Given the description of an element on the screen output the (x, y) to click on. 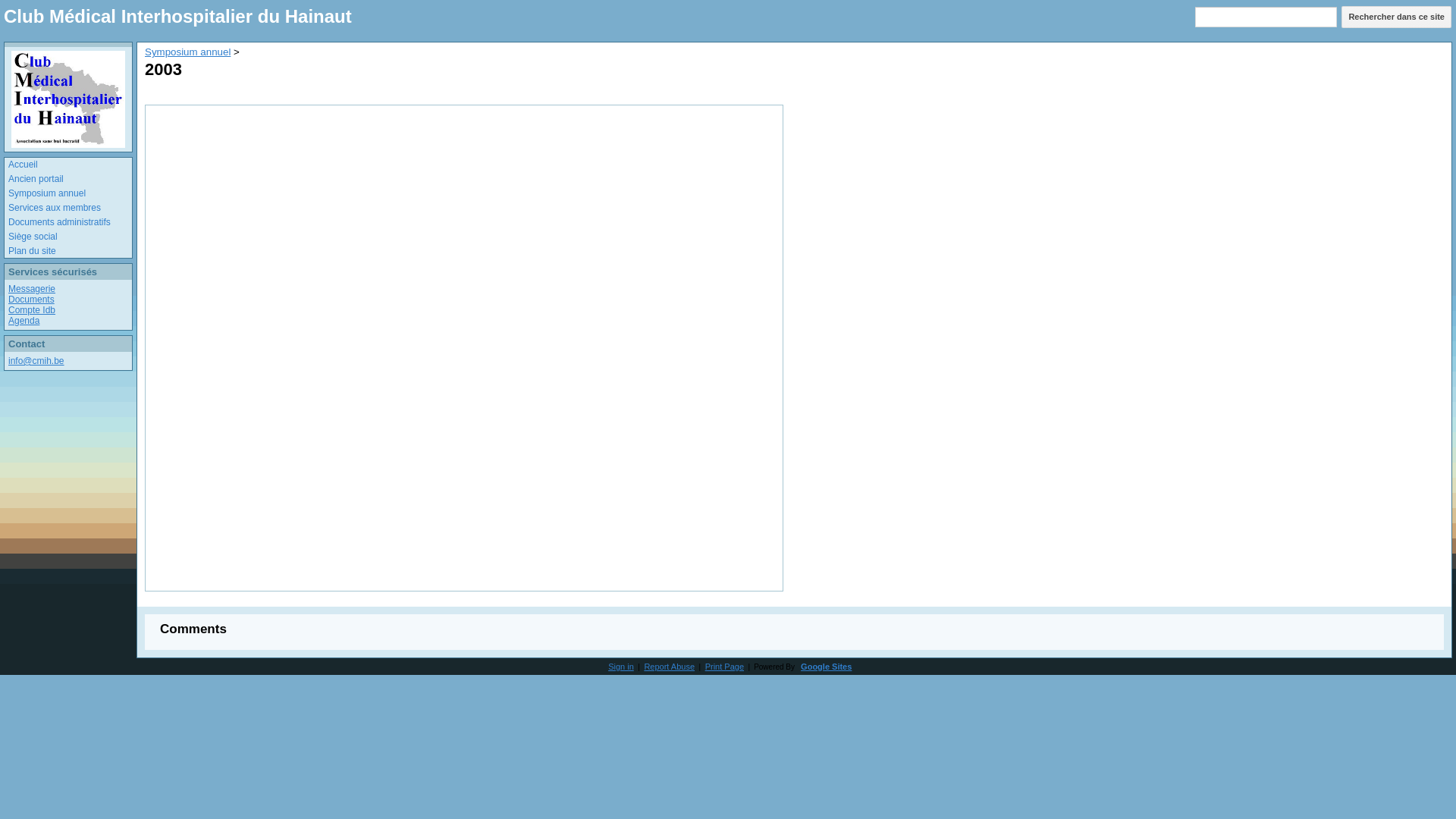
Report Abuse Element type: text (668, 666)
Include gadget (iframe) Element type: hover (463, 347)
Google Sites Element type: text (825, 666)
Ancien portail Element type: text (69, 179)
Symposium annuel Element type: text (69, 194)
Messagerie Element type: text (31, 288)
Sign in Element type: text (620, 666)
Services aux membres Element type: text (69, 208)
Symposium annuel Element type: text (187, 51)
Agenda Element type: text (23, 320)
Accueil Element type: text (69, 165)
Plan du site Element type: text (69, 251)
Documents Element type: text (31, 299)
Print Page Element type: text (724, 666)
Documents administratifs Element type: text (69, 222)
info@cmih.be Element type: text (36, 360)
Compte Idb Element type: text (31, 309)
